Given the description of an element on the screen output the (x, y) to click on. 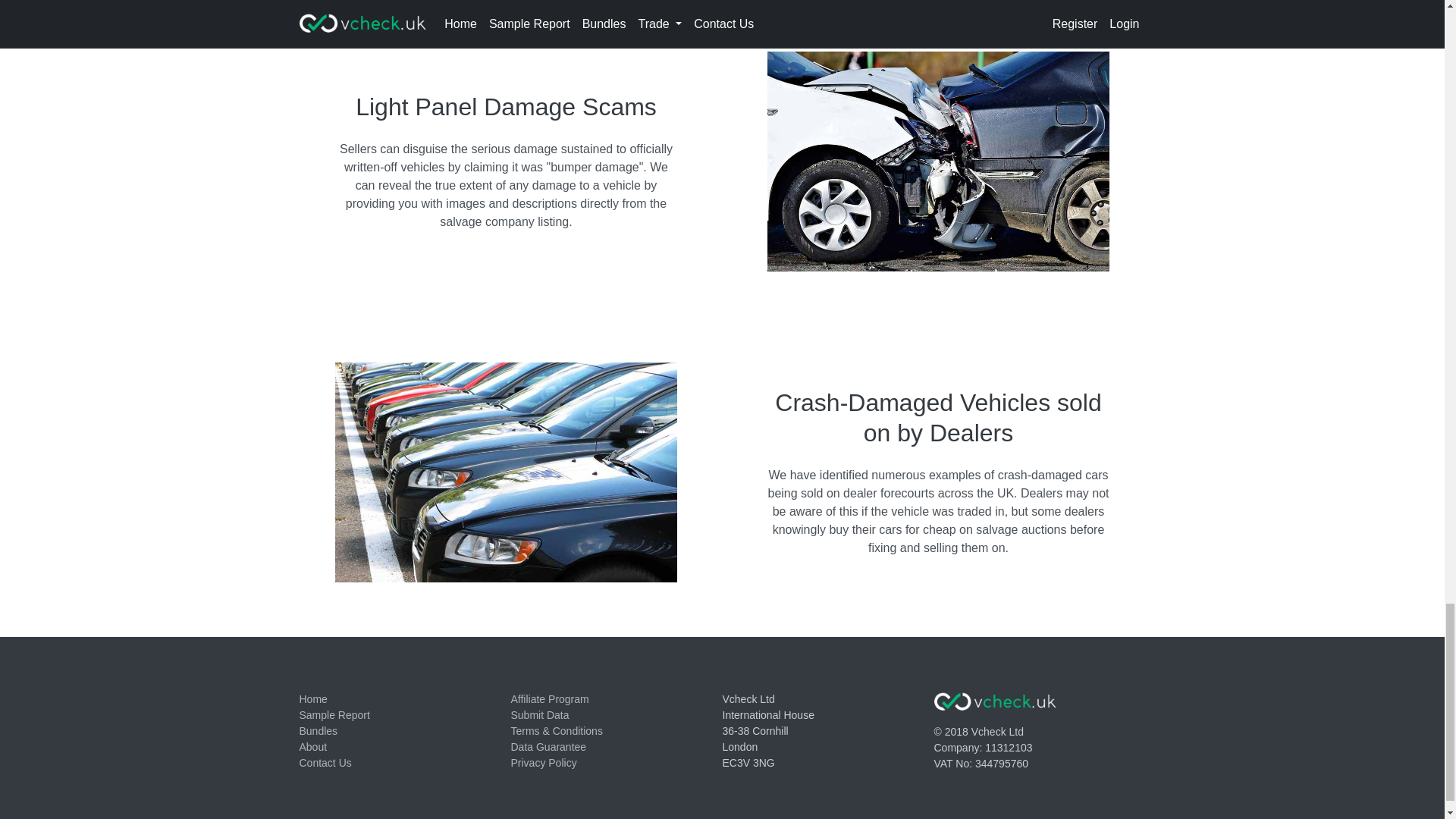
Sample Report (333, 715)
Contact Us (324, 762)
About (312, 746)
Submit Data (540, 715)
Home (312, 698)
Data Guarantee (548, 746)
Bundles (317, 730)
Privacy Policy (543, 762)
Affiliate Program (550, 698)
